Given the description of an element on the screen output the (x, y) to click on. 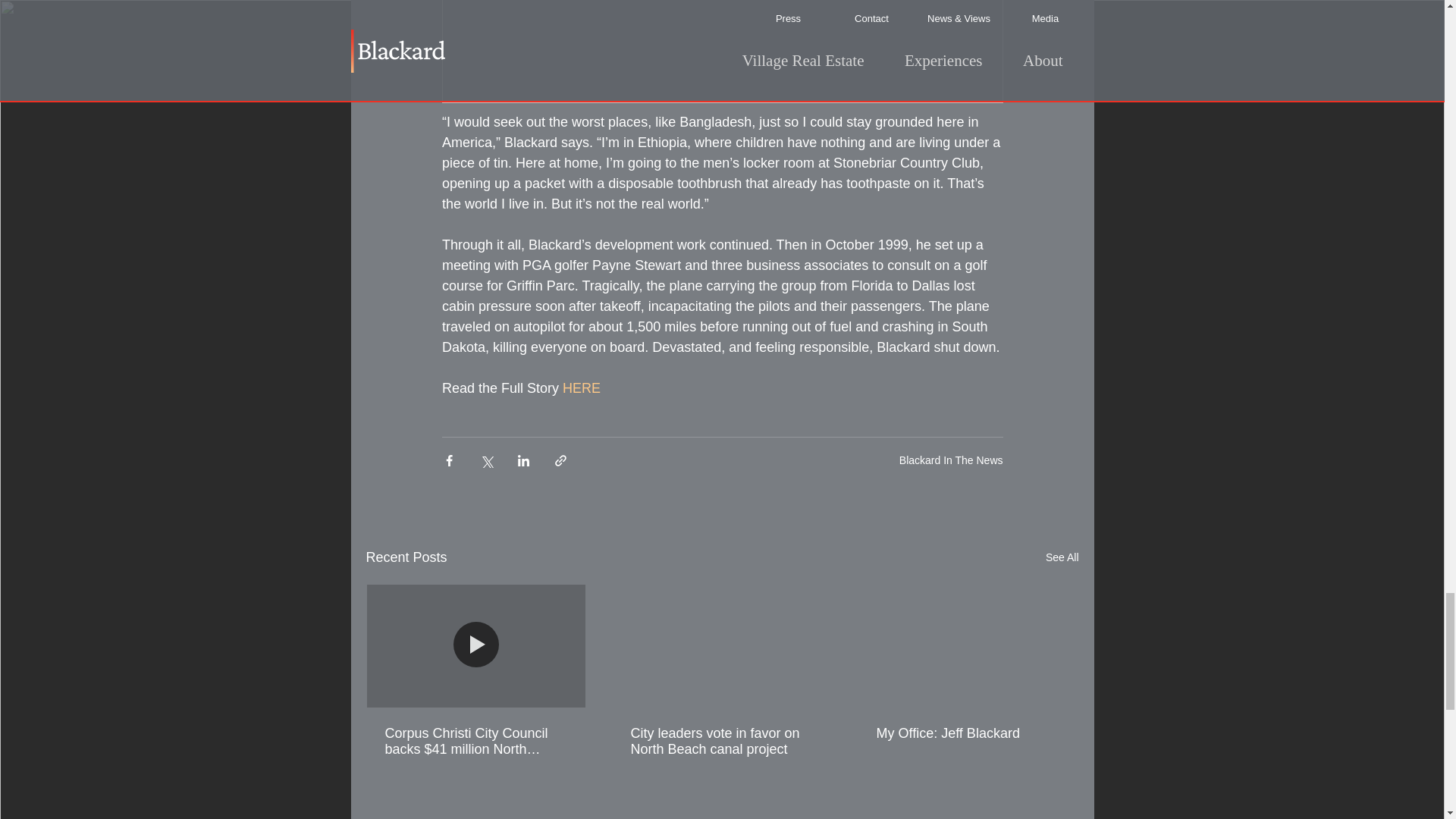
My Office: Jeff Blackard (967, 733)
Blackard In The News (951, 460)
See All (1061, 557)
City leaders vote in favor on North Beach canal project (721, 741)
HERE (580, 387)
